Given the description of an element on the screen output the (x, y) to click on. 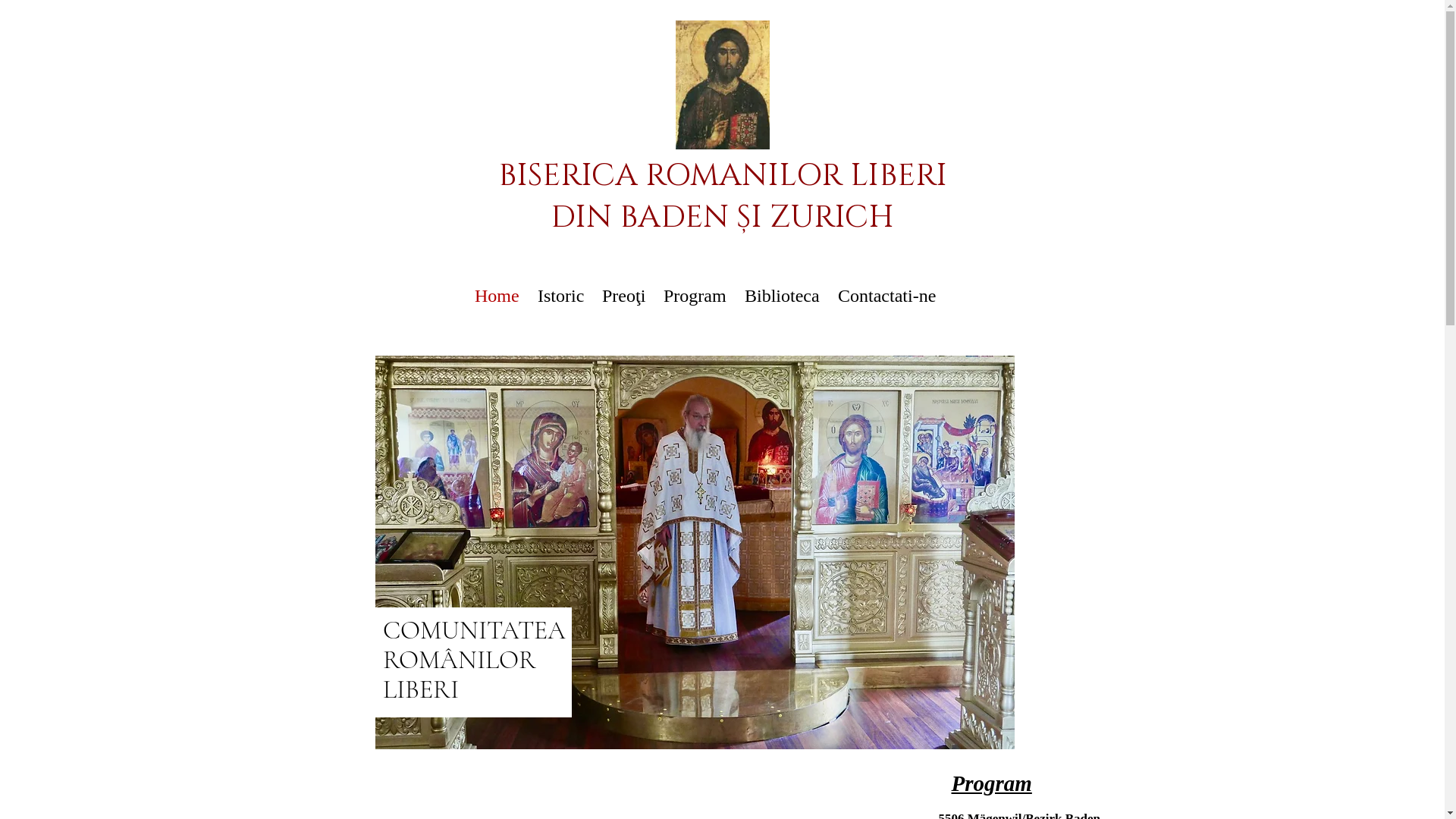
Istoric Element type: text (560, 295)
Biblioteca Element type: text (781, 295)
Contactati-ne Element type: text (886, 295)
NILOR LIBERI Element type: text (844, 175)
Program Element type: text (694, 295)
BISERICA ROMA Element type: text (618, 175)
Home Element type: text (496, 295)
